Given the description of an element on the screen output the (x, y) to click on. 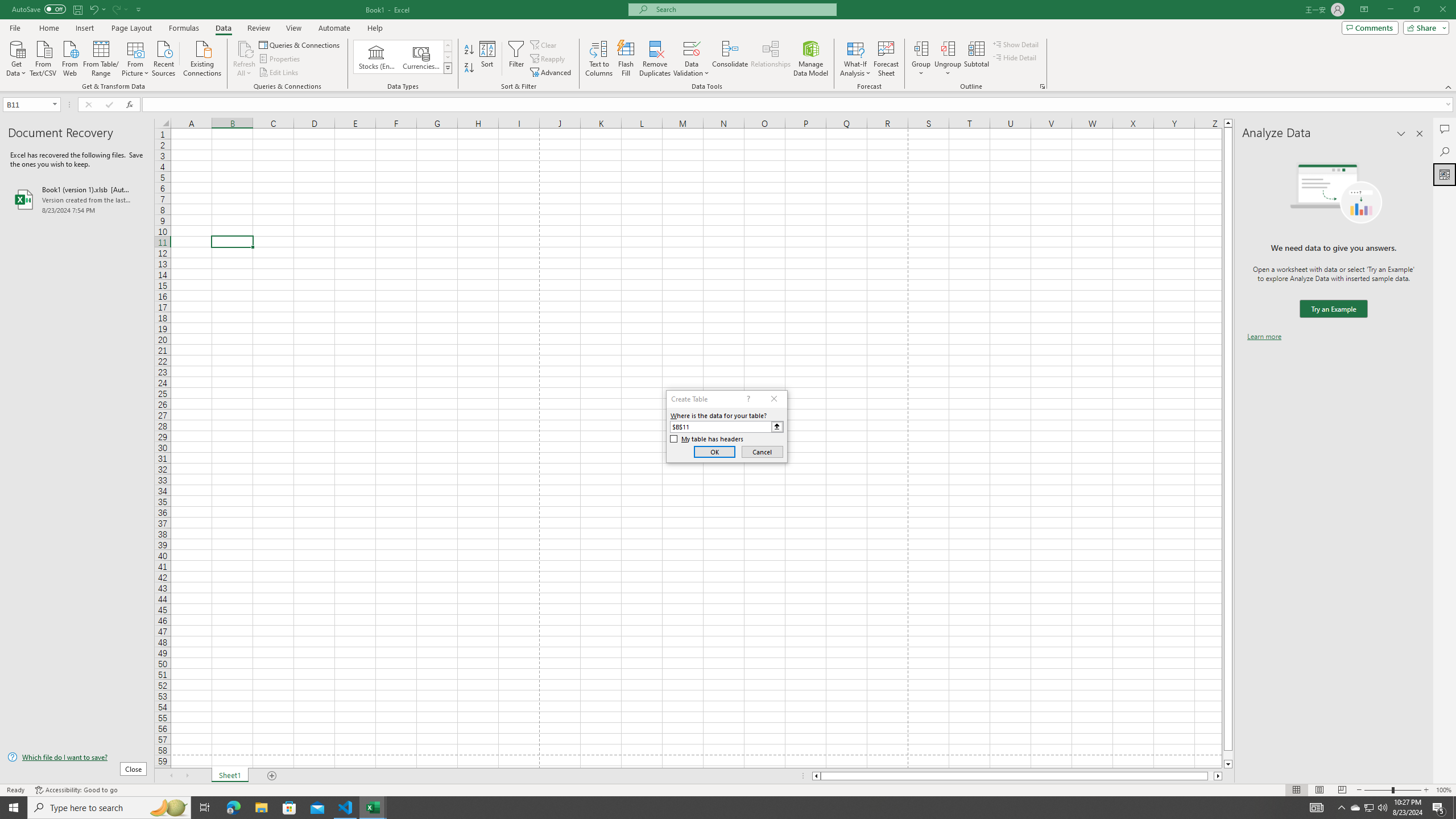
Data Types (448, 67)
Edit Links (279, 72)
AutomationID: ConvertToLinkedEntity (403, 56)
Hide Detail (1014, 56)
